Given the description of an element on the screen output the (x, y) to click on. 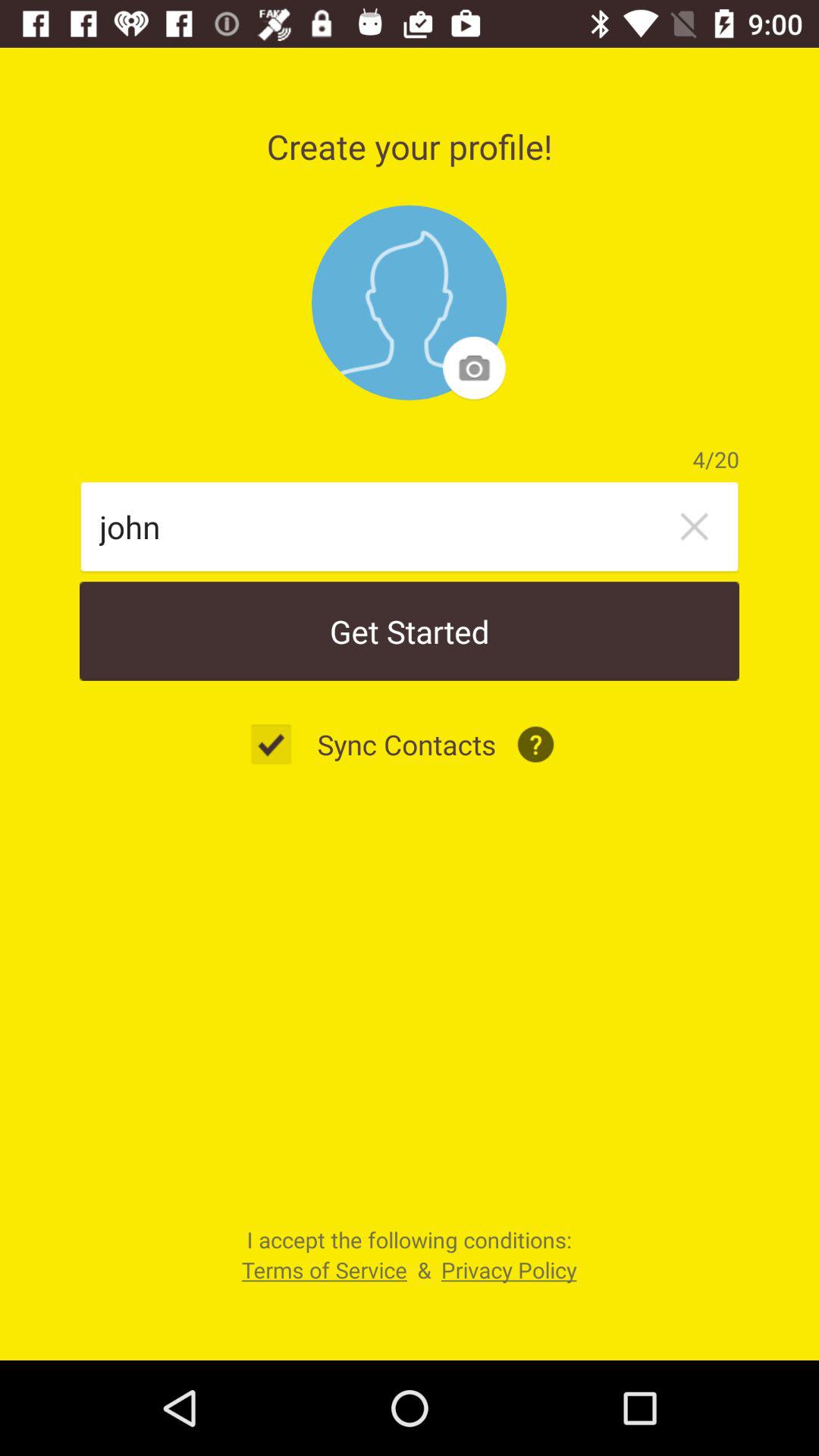
select item next to the & item (324, 1269)
